Given the description of an element on the screen output the (x, y) to click on. 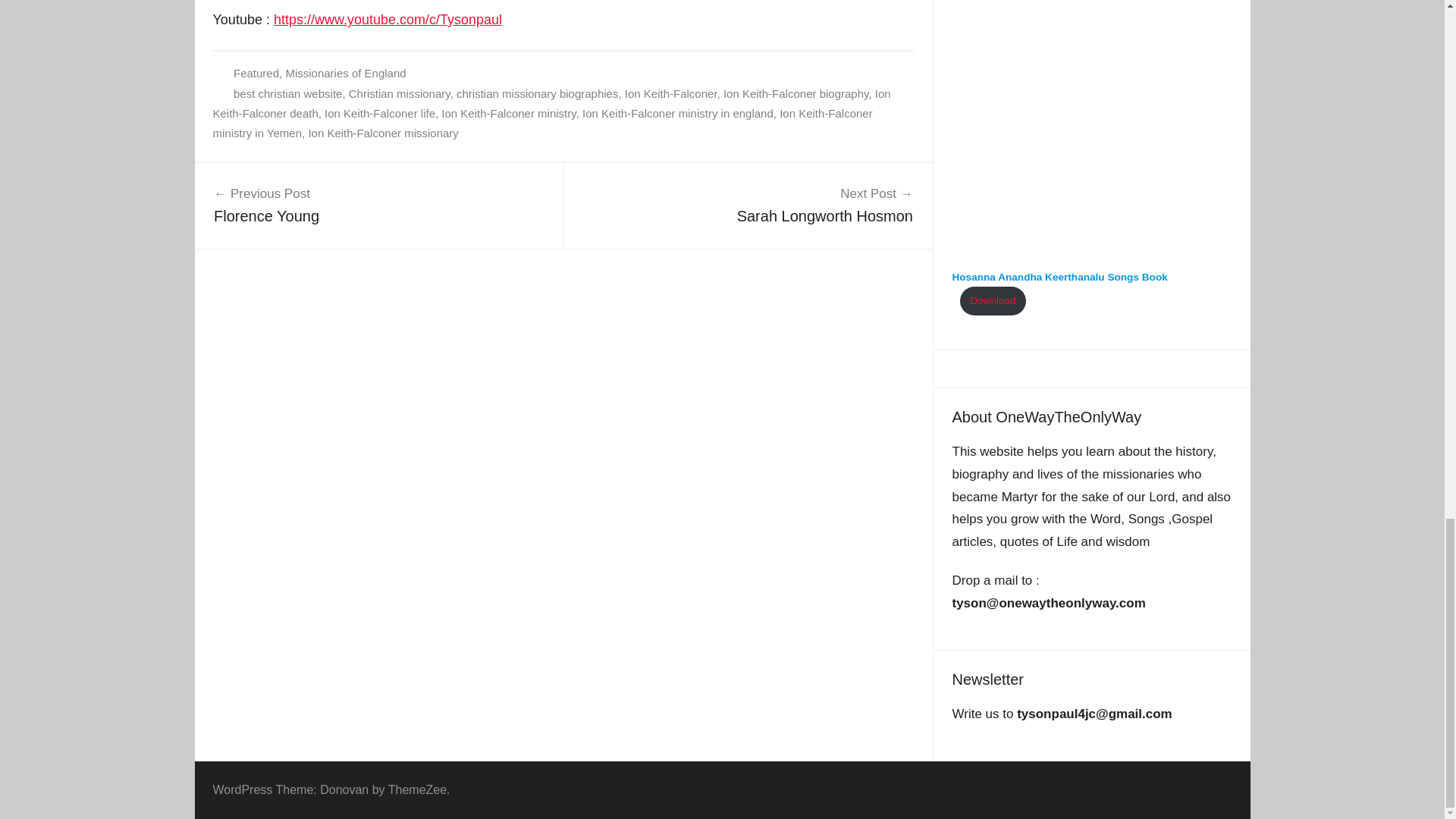
christian missionary biographies (378, 204)
Ion Keith-Falconer ministry in Yemen (537, 92)
Ion Keith-Falconer biography (542, 123)
Ion Keith-Falconer life (796, 92)
Christian missionary (748, 204)
Featured (379, 113)
Ion Keith-Falconer ministry (399, 92)
Ion Keith-Falconer death (255, 72)
Missionaries of England (508, 113)
best christian website (550, 102)
Ion Keith-Falconer (345, 72)
Ion Keith-Falconer missionary (287, 92)
Ion Keith-Falconer ministry in england (670, 92)
